Given the description of an element on the screen output the (x, y) to click on. 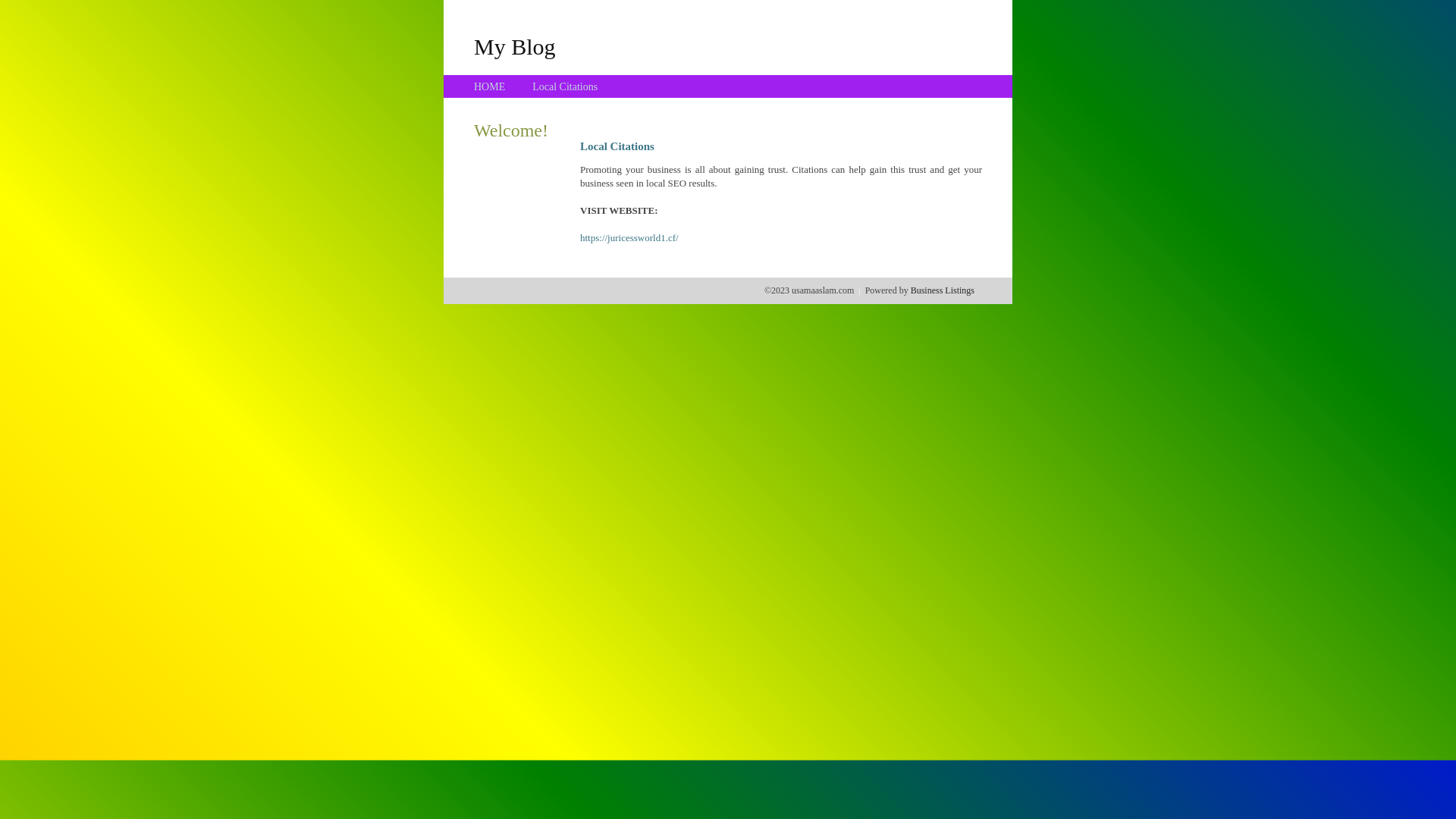
https://juricessworld1.cf/ Element type: text (629, 237)
Local Citations Element type: text (564, 86)
HOME Element type: text (489, 86)
Business Listings Element type: text (942, 290)
My Blog Element type: text (514, 46)
